Given the description of an element on the screen output the (x, y) to click on. 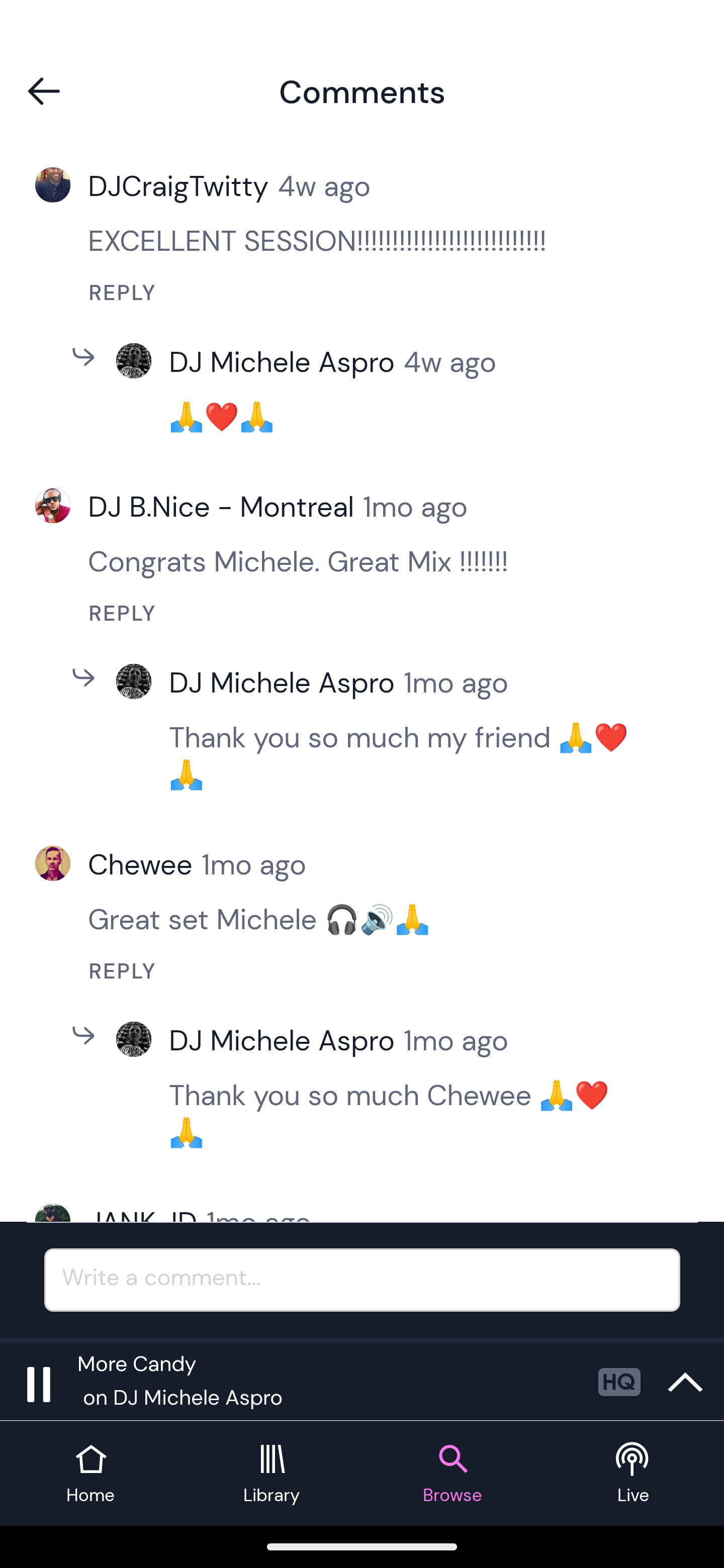
DJCraigTwitty (183, 185)
REPLY (379, 292)
DJ Michele Aspro (285, 362)
DJ B.Nice - Montreal (225, 506)
REPLY (379, 612)
DJ Michele Aspro (285, 681)
Chewee (144, 863)
REPLY (379, 970)
DJ Michele Aspro (285, 1040)
Write a comment... (362, 1280)
Home tab Home (90, 1473)
Library tab Library (271, 1473)
Browse tab Browse (452, 1473)
Live tab Live (633, 1473)
